Given the description of an element on the screen output the (x, y) to click on. 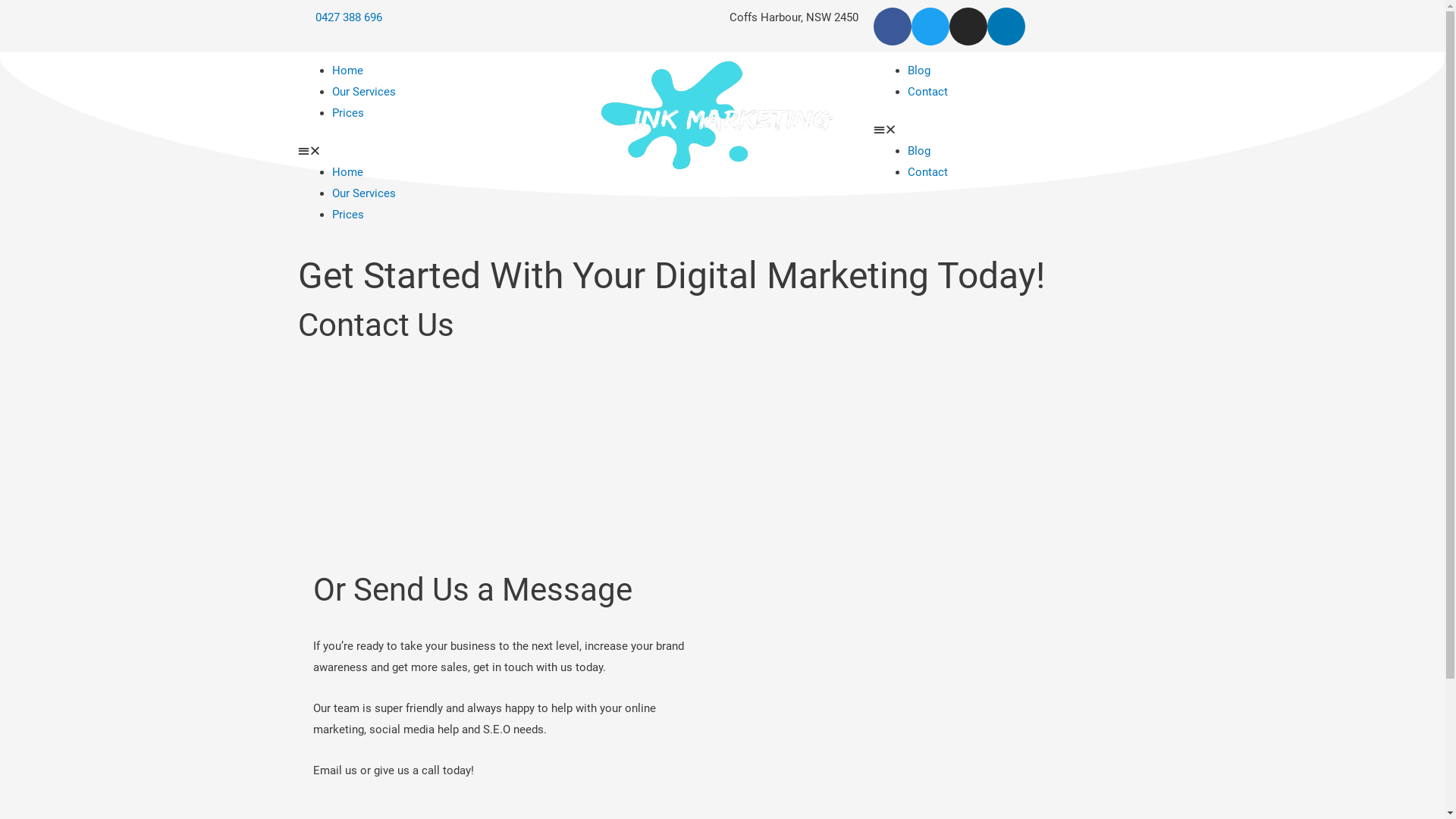
Blog Element type: text (918, 70)
Blog Element type: text (918, 150)
Prices Element type: text (348, 112)
Prices Element type: text (348, 214)
Home Element type: text (347, 70)
0427 388 696 Element type: text (339, 17)
Our Services Element type: text (363, 91)
Contact Element type: text (927, 91)
Home Element type: text (347, 171)
Our Services Element type: text (363, 193)
Contact Element type: text (927, 171)
